Given the description of an element on the screen output the (x, y) to click on. 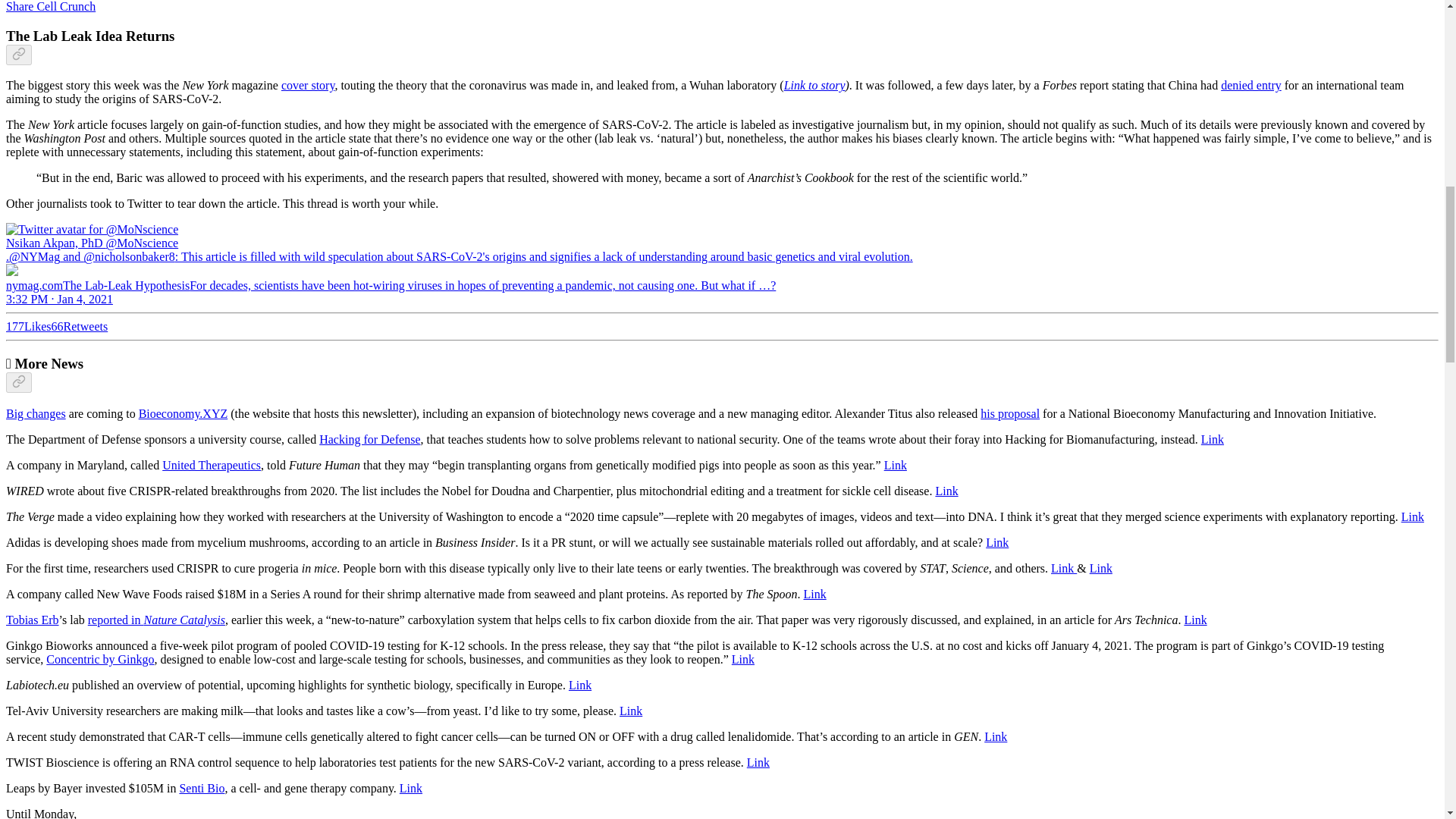
Link (895, 464)
Link to story (814, 84)
cover story (307, 84)
his proposal (1009, 413)
United Therapeutics (210, 464)
Hacking for Defense (369, 439)
denied entry (1251, 84)
Big changes (35, 413)
Link (1212, 439)
Share Cell Crunch (50, 6)
Bioeconomy.XYZ (183, 413)
